Given the description of an element on the screen output the (x, y) to click on. 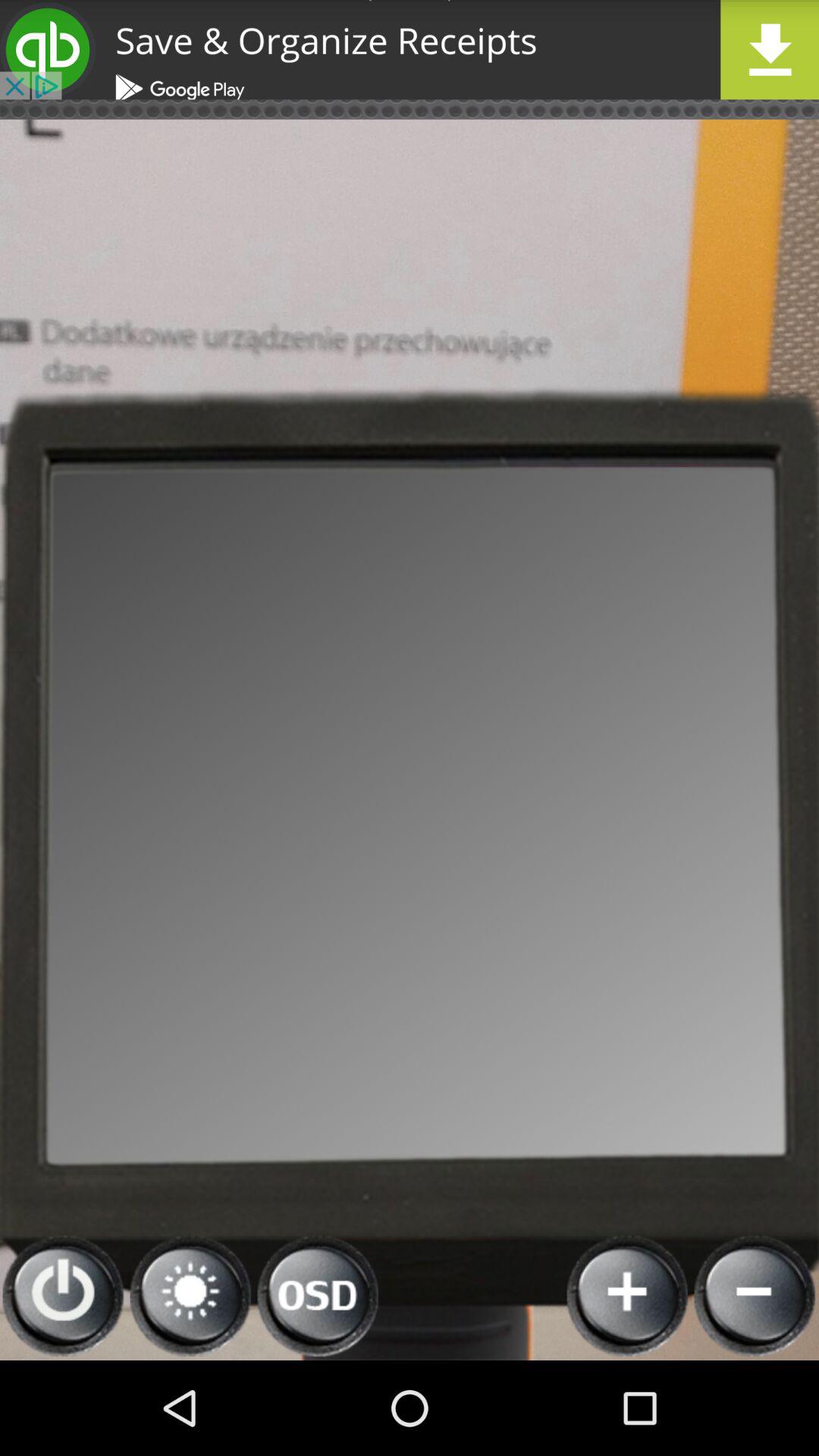
valum button (190, 1296)
